Given the description of an element on the screen output the (x, y) to click on. 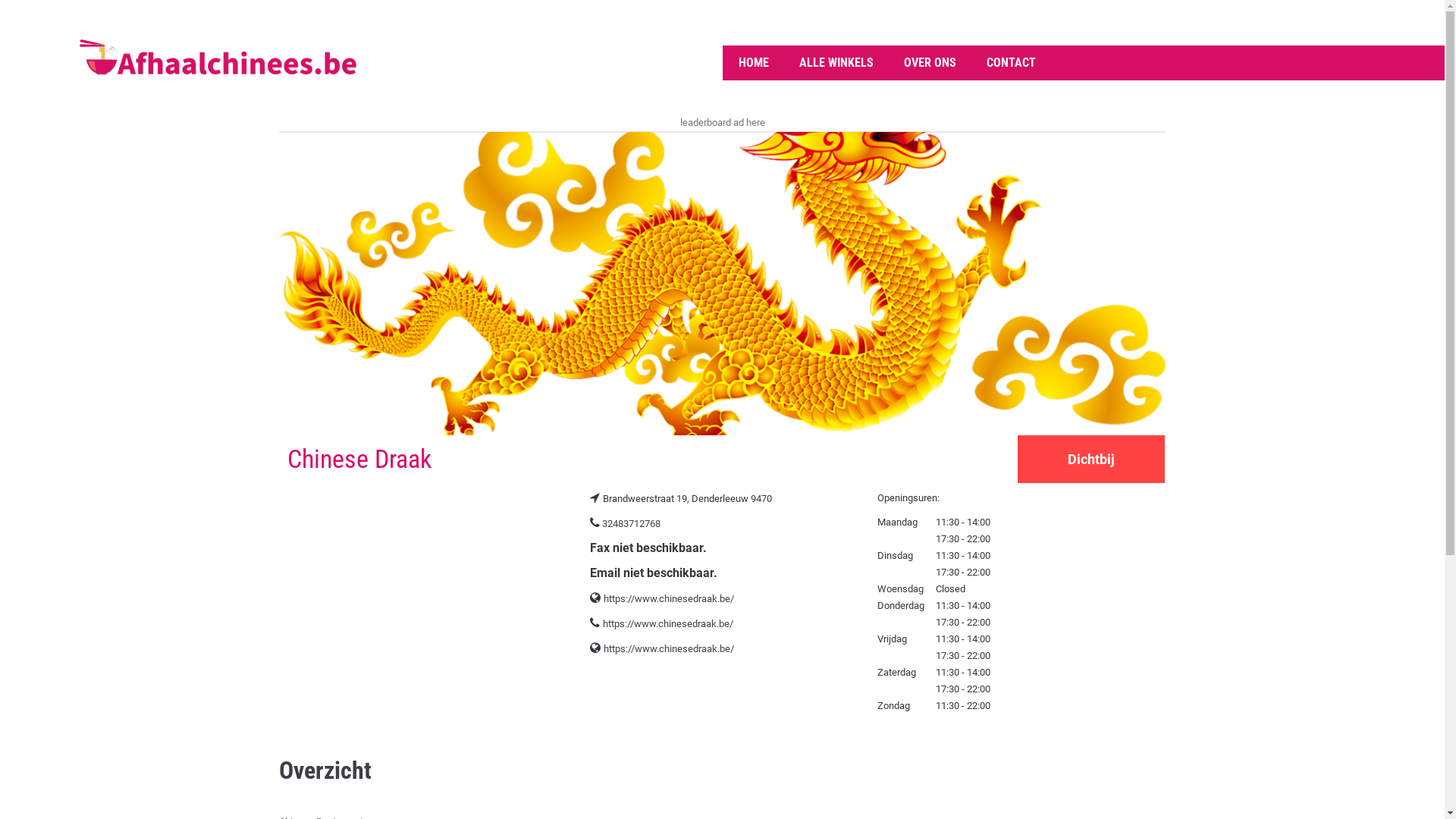
https://www.chinesedraak.be/ Element type: text (667, 623)
ALLE WINKELS Element type: text (836, 62)
HOME Element type: text (753, 62)
OVER ONS Element type: text (929, 62)
32483712768 Element type: text (631, 523)
CONTACT Element type: text (1010, 62)
https://www.chinesedraak.be/ Element type: text (668, 648)
https://www.chinesedraak.be/ Element type: text (668, 598)
